Given the description of an element on the screen output the (x, y) to click on. 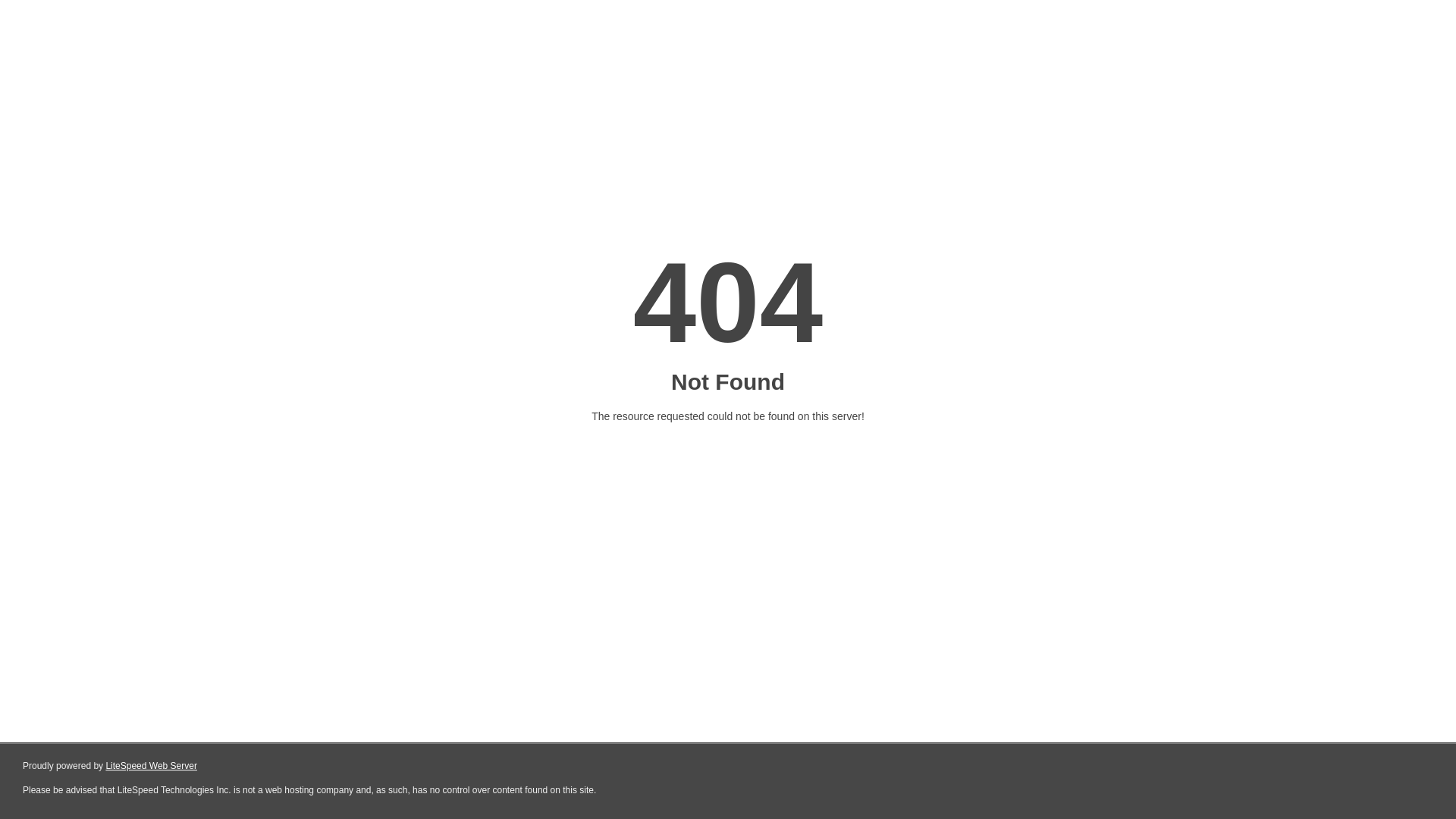
LiteSpeed Web Server Element type: text (151, 765)
